Given the description of an element on the screen output the (x, y) to click on. 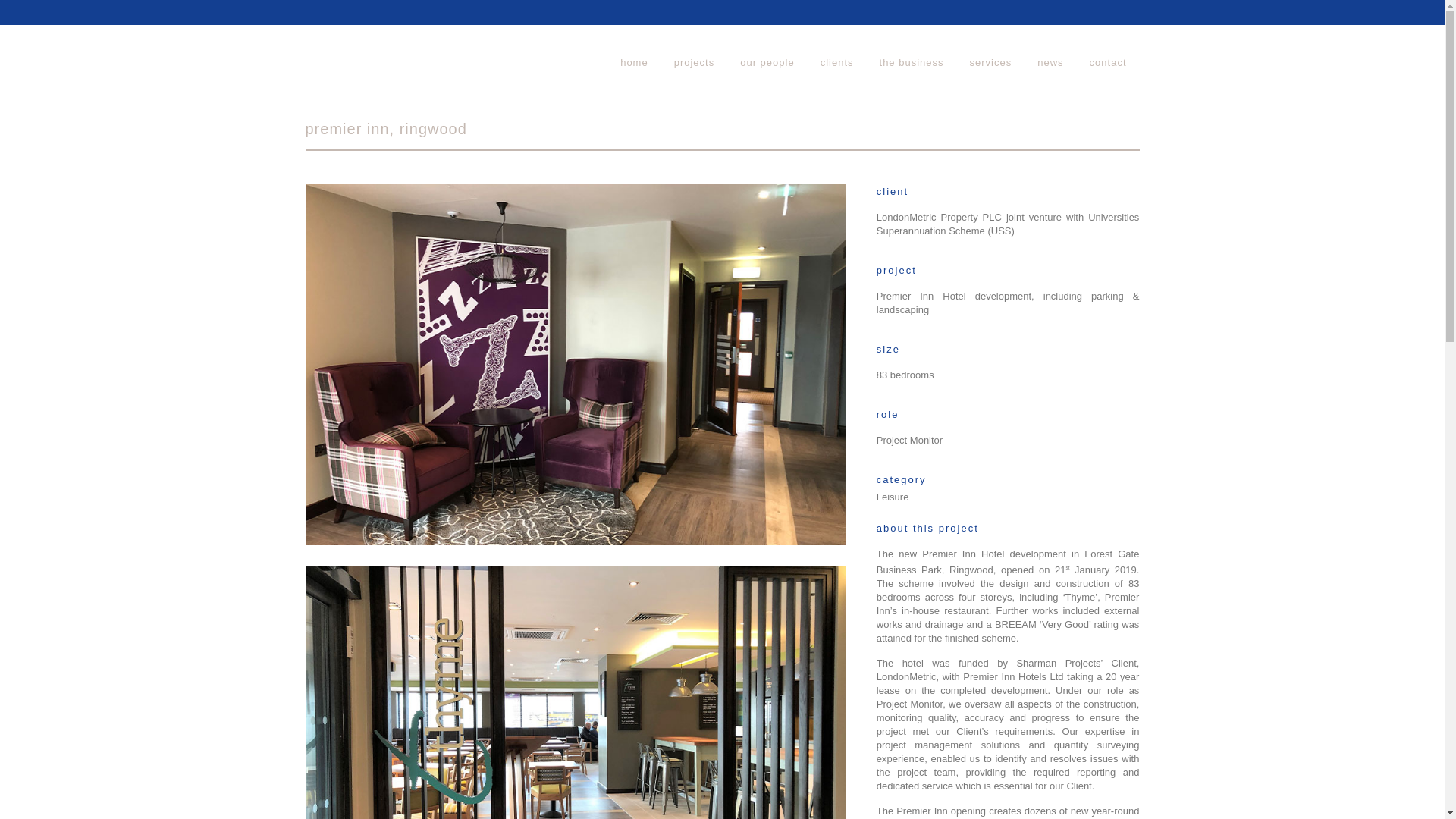
our people (766, 62)
services (990, 62)
the business (911, 62)
